Given the description of an element on the screen output the (x, y) to click on. 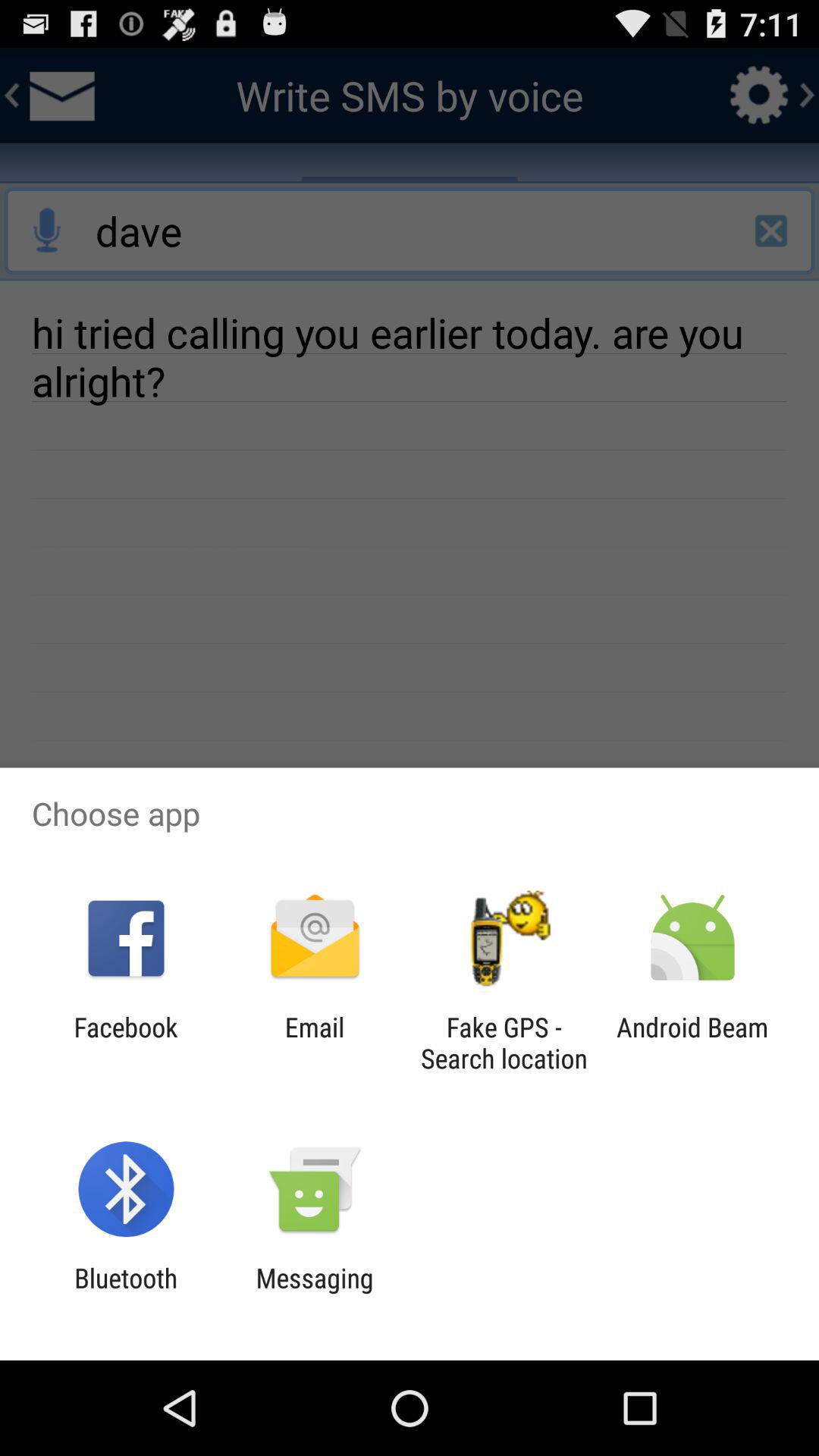
open item next to the messaging (125, 1293)
